Given the description of an element on the screen output the (x, y) to click on. 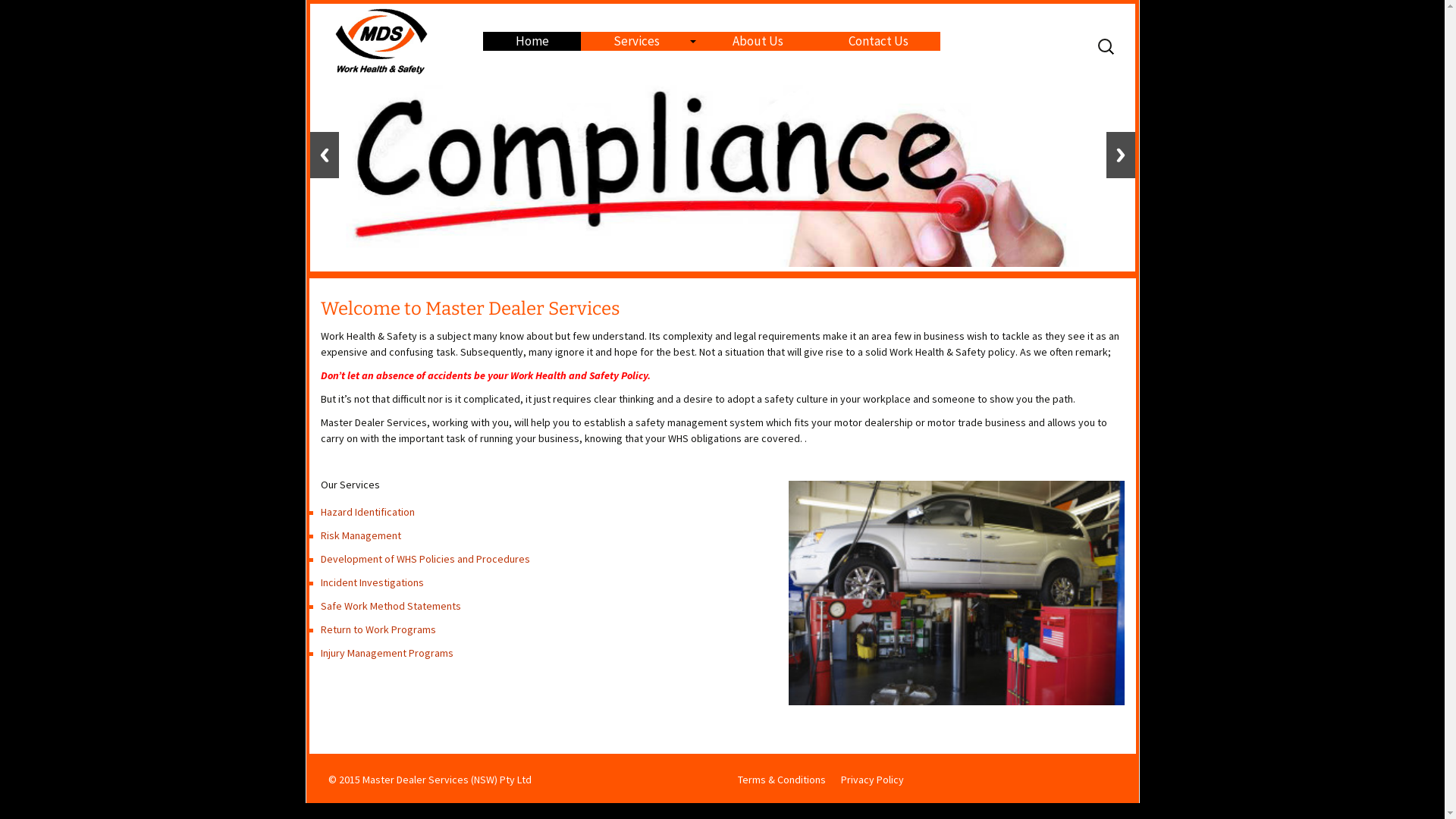
Return to Work Programs Element type: text (377, 629)
Back Element type: text (323, 154)
Privacy Policy Element type: text (871, 779)
Next Element type: text (1119, 154)
Safe Work Method Statements Element type: text (390, 605)
Development of WHS Policies and Procedures Element type: text (424, 558)
Terms & Conditions Element type: text (781, 779)
Contact Us Element type: text (877, 40)
Incident Investigations Element type: text (371, 582)
Home Element type: text (531, 40)
Services Element type: text (640, 40)
Search Element type: text (18, 16)
About Us Element type: text (757, 40)
Injury Management Programs Element type: text (386, 652)
Hazard Identification Element type: text (367, 511)
Risk Management Element type: text (360, 535)
